Given the description of an element on the screen output the (x, y) to click on. 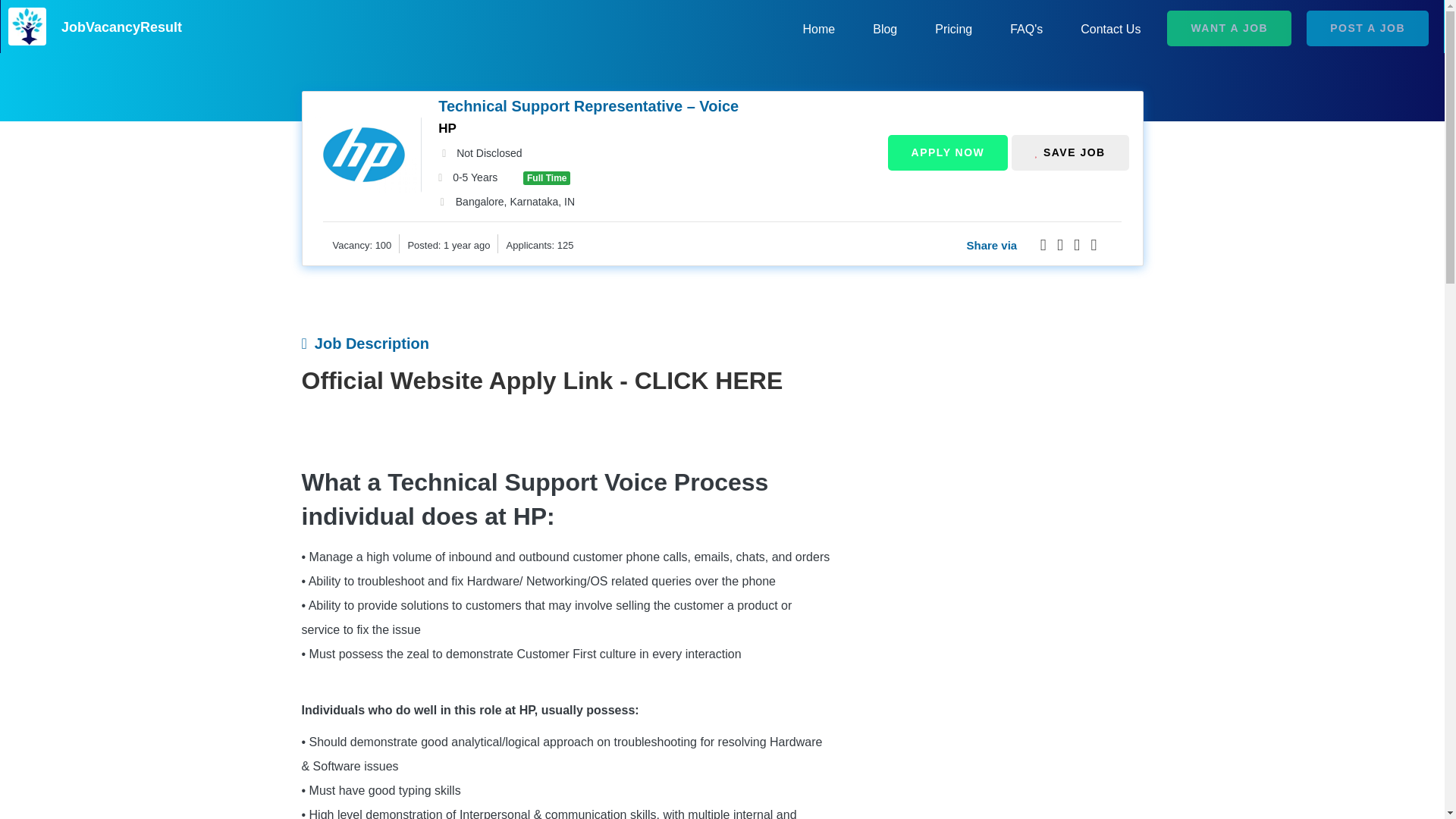
Contact Us (1110, 29)
WANT A JOB (1229, 27)
Official Website Apply Link - CLICK HERE (542, 379)
SAVE JOB (1070, 152)
WANT A JOB (1225, 29)
POST A JOB (1375, 29)
Share by Email (1076, 245)
Pricing (953, 29)
FAQ's (1026, 29)
POST A JOB (1367, 27)
JobVacancyResult (121, 26)
HP (447, 128)
APPLY NOW (948, 152)
Home (819, 29)
